Given the description of an element on the screen output the (x, y) to click on. 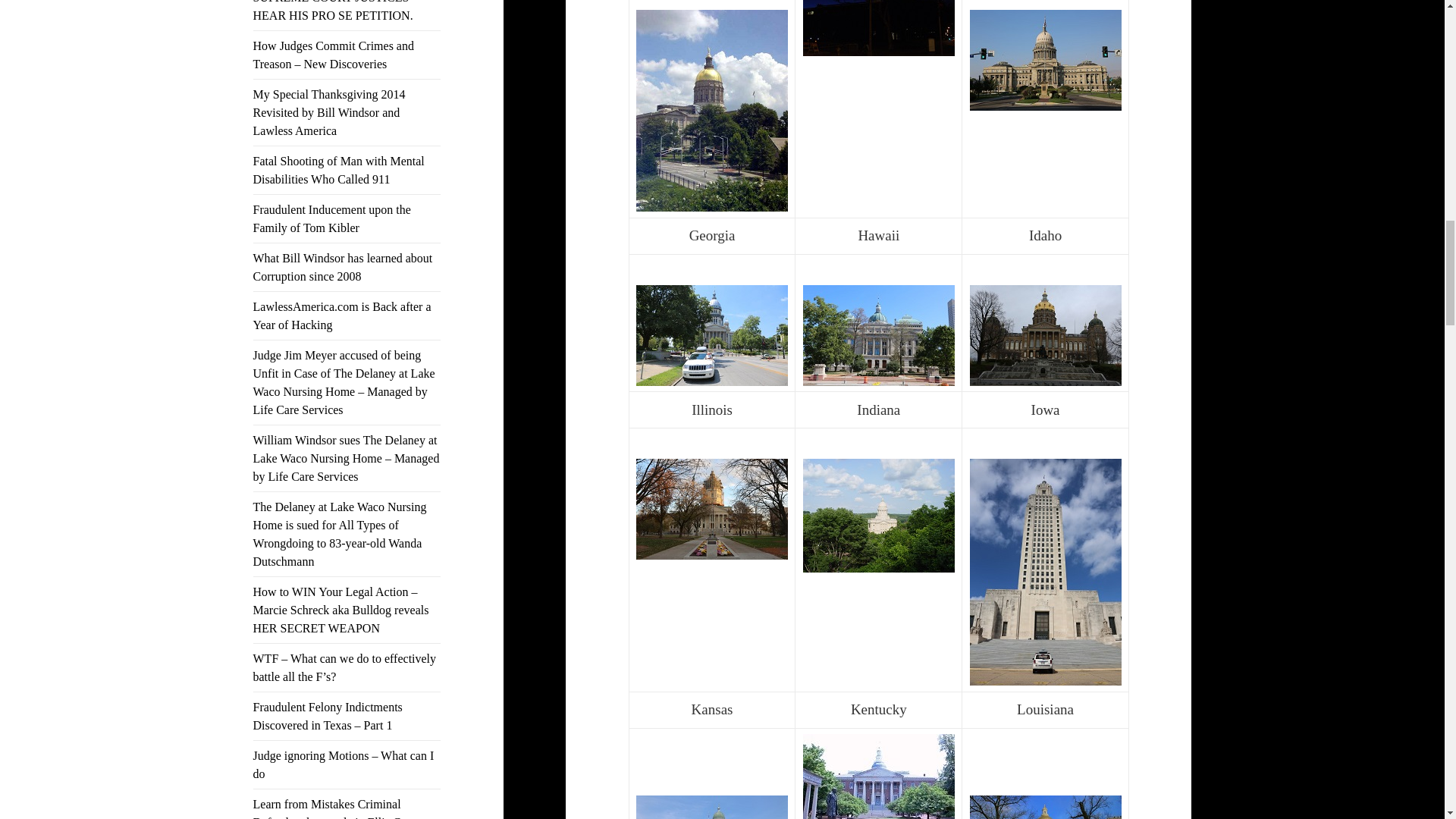
What Bill Windsor has learned about Corruption since 2008 (342, 266)
LawlessAmerica.com is Back after a Year of Hacking (341, 315)
Fraudulent Inducement upon the Family of Tom Kibler (331, 218)
